Given the description of an element on the screen output the (x, y) to click on. 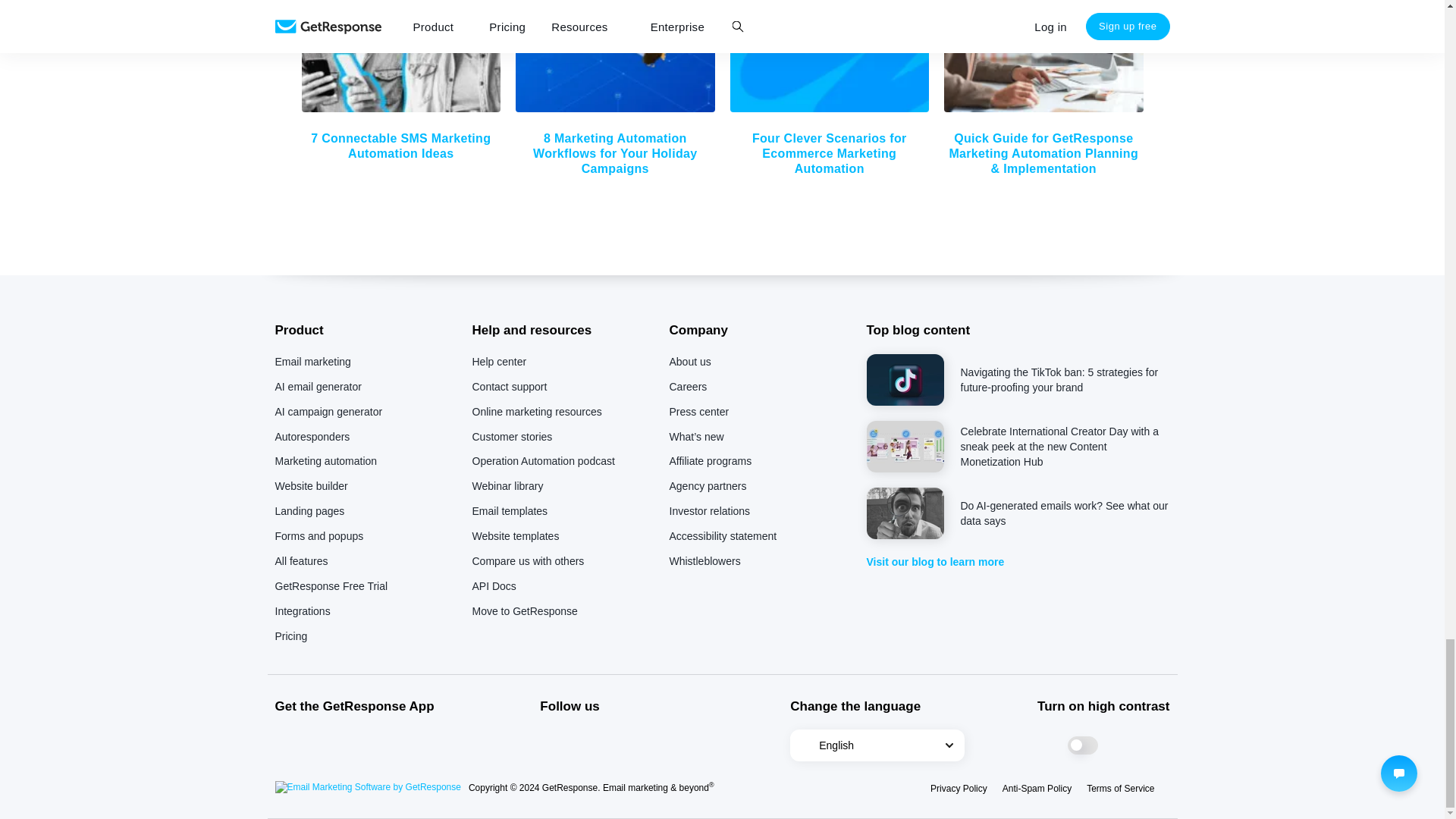
Language (876, 745)
 Email Marketing Software by GetResponse (367, 786)
